Given the description of an element on the screen output the (x, y) to click on. 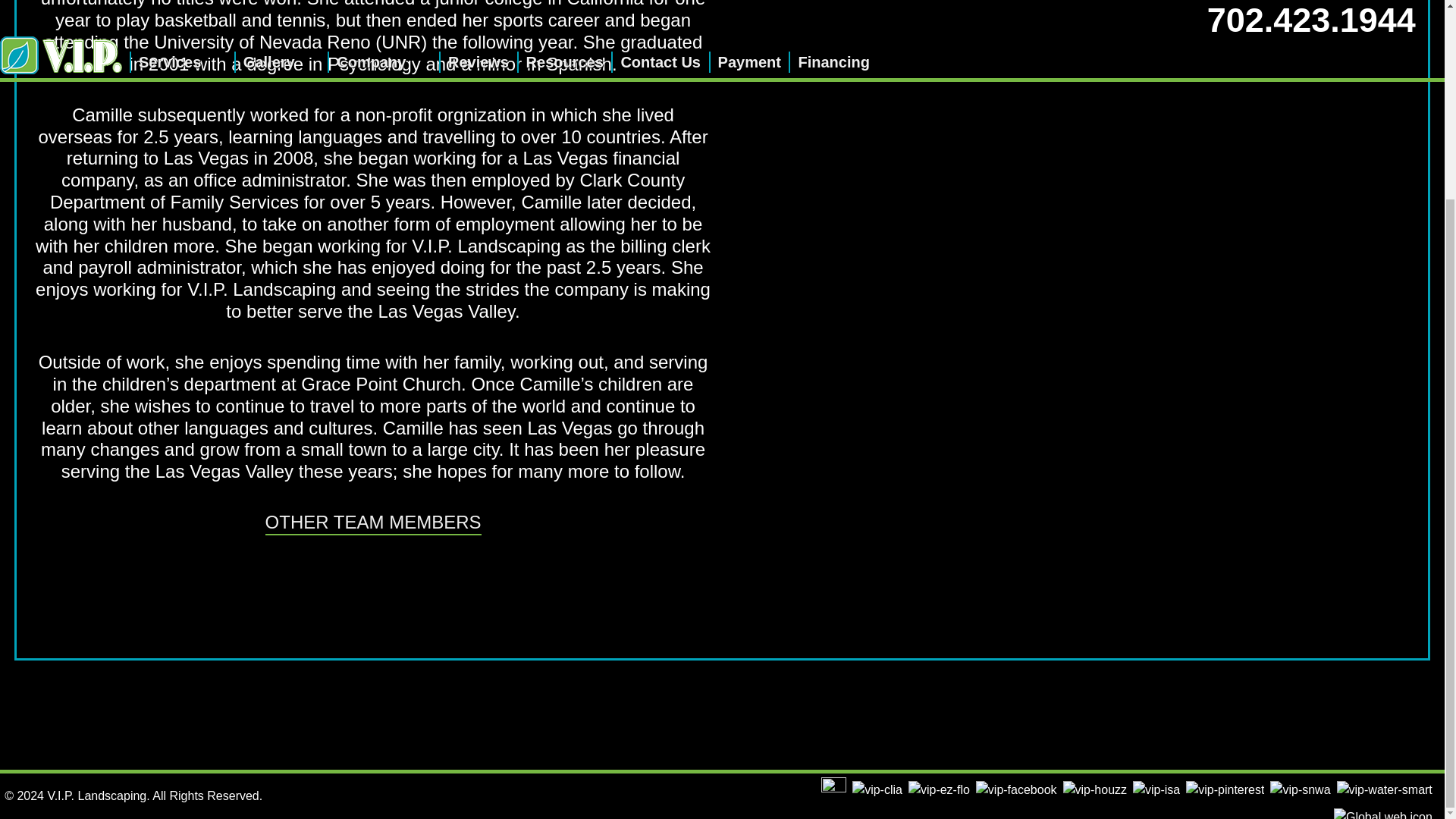
OTHER TEAM MEMBERS (372, 523)
